Given the description of an element on the screen output the (x, y) to click on. 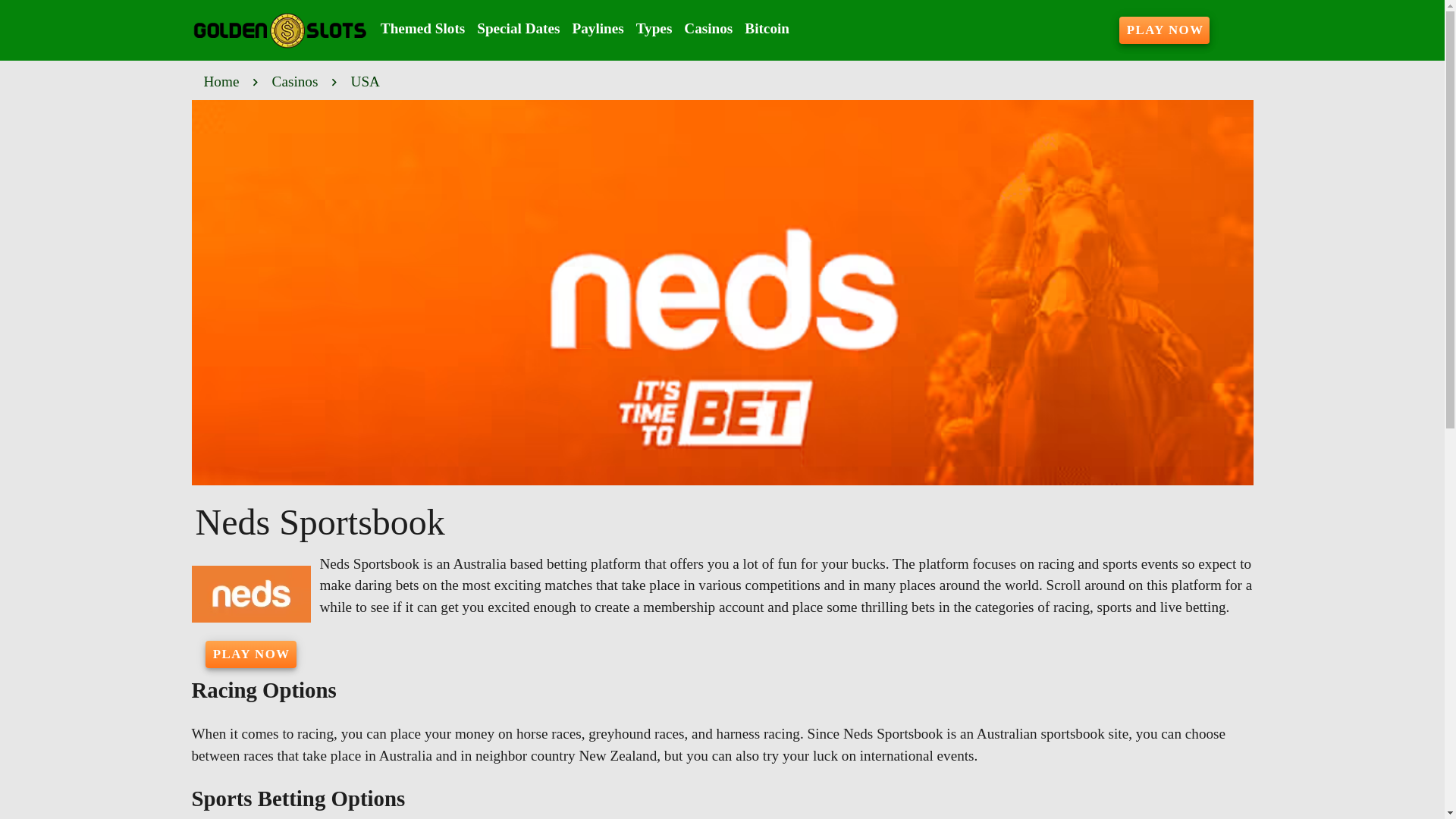
PLAY NOW (250, 654)
Special Dates (518, 28)
Paylines (597, 28)
Types (654, 28)
Home (220, 81)
Casinos (295, 81)
PLAY NOW (1164, 30)
Themed Slots (422, 28)
Casinos (708, 28)
USA (365, 81)
